Given the description of an element on the screen output the (x, y) to click on. 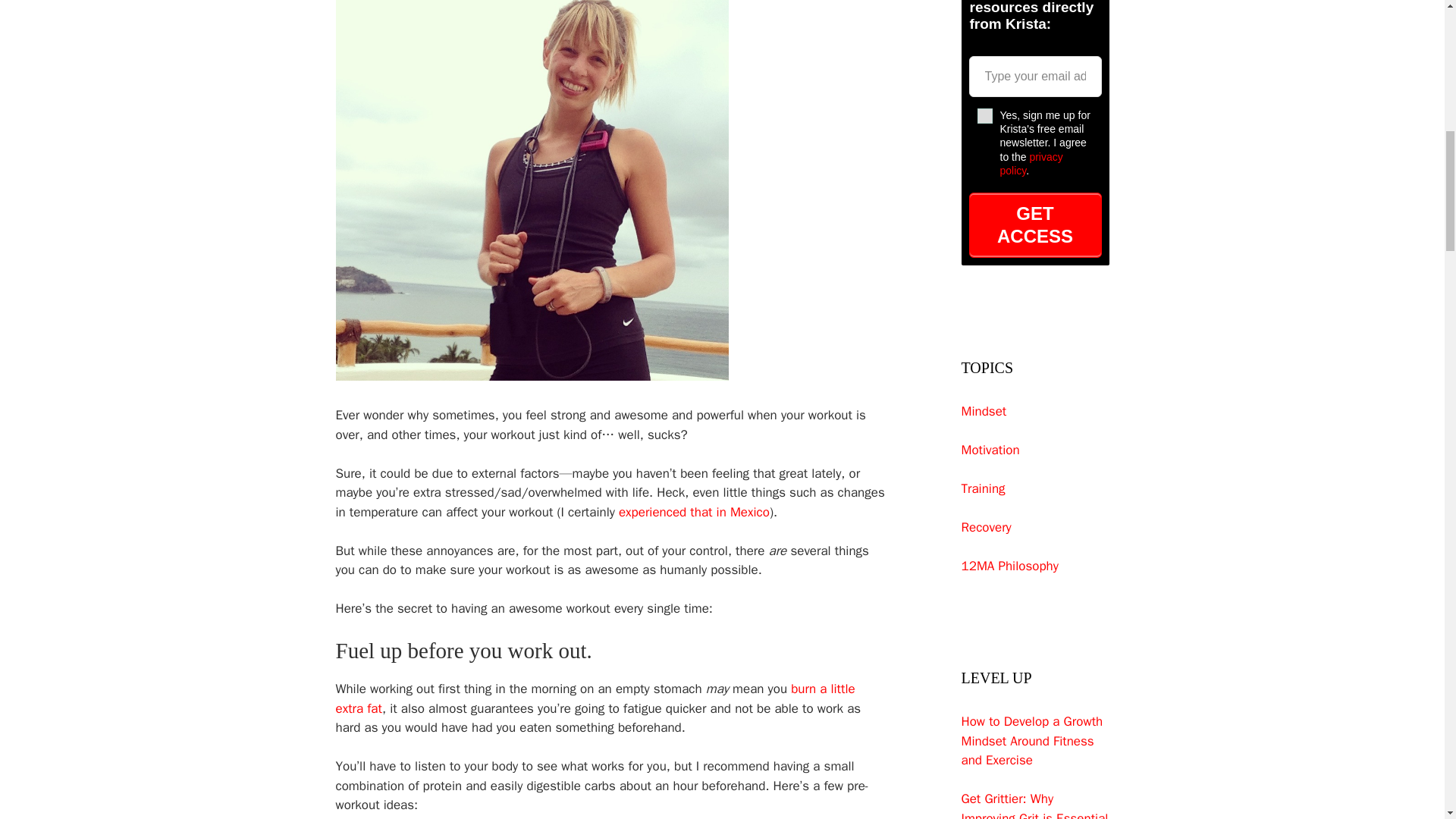
Scroll back to top (1406, 720)
experienced that in Mexico (694, 512)
burn a little extra fat (594, 698)
